Given the description of an element on the screen output the (x, y) to click on. 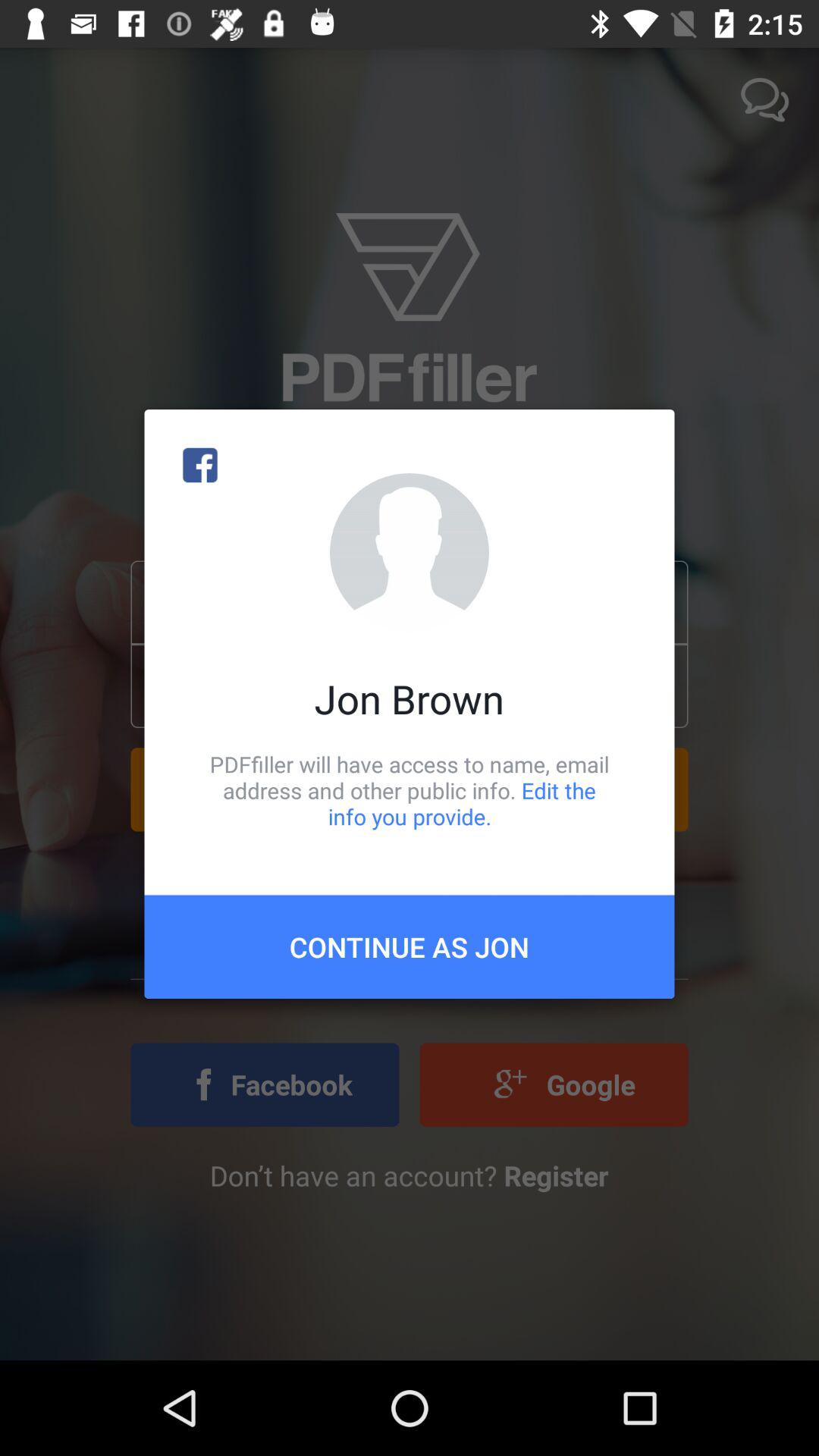
open icon below the pdffiller will have (409, 946)
